Given the description of an element on the screen output the (x, y) to click on. 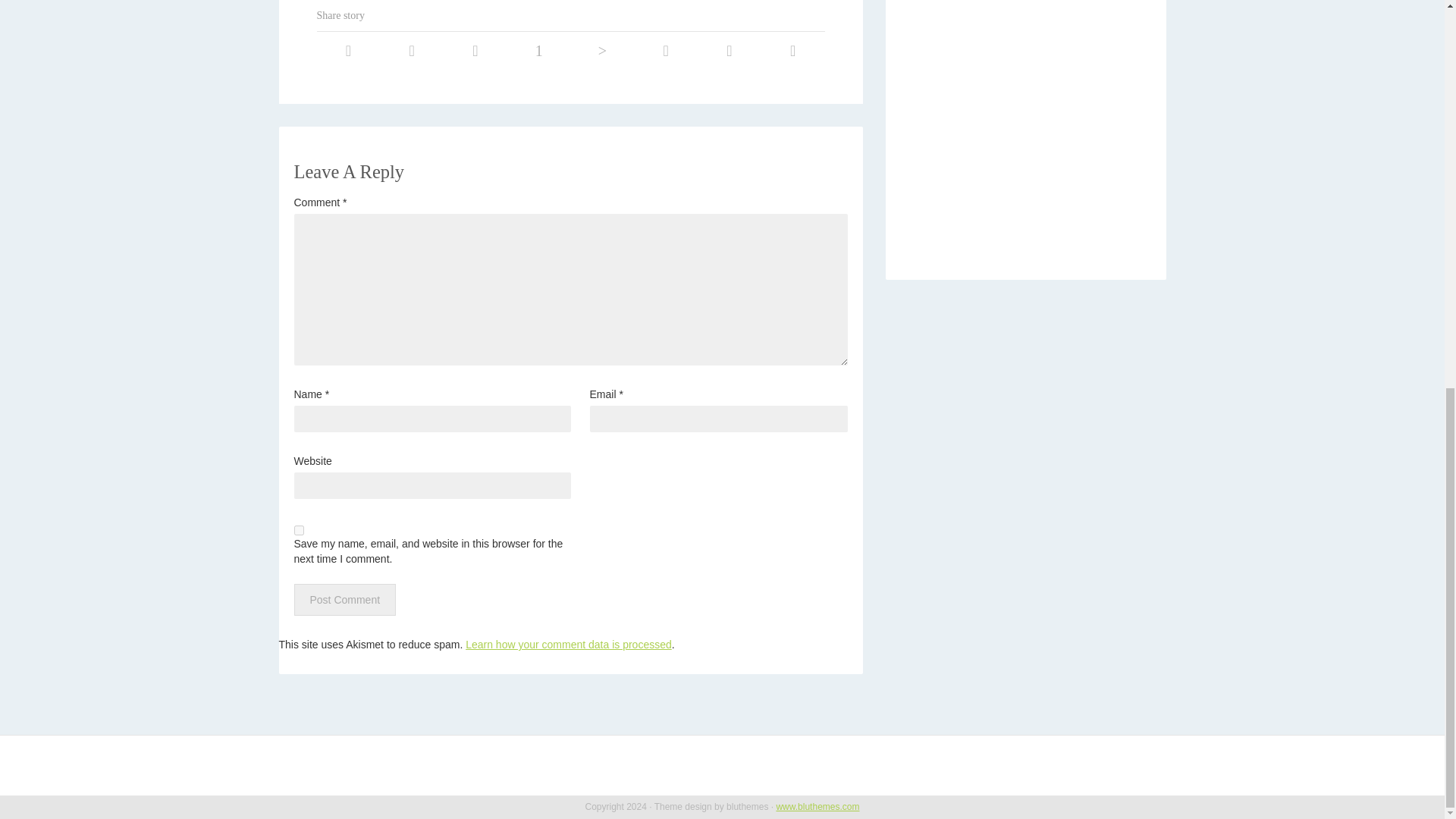
Spotify Embed: Office Radio (1025, 125)
Post Comment (345, 599)
yes (299, 530)
